Given the description of an element on the screen output the (x, y) to click on. 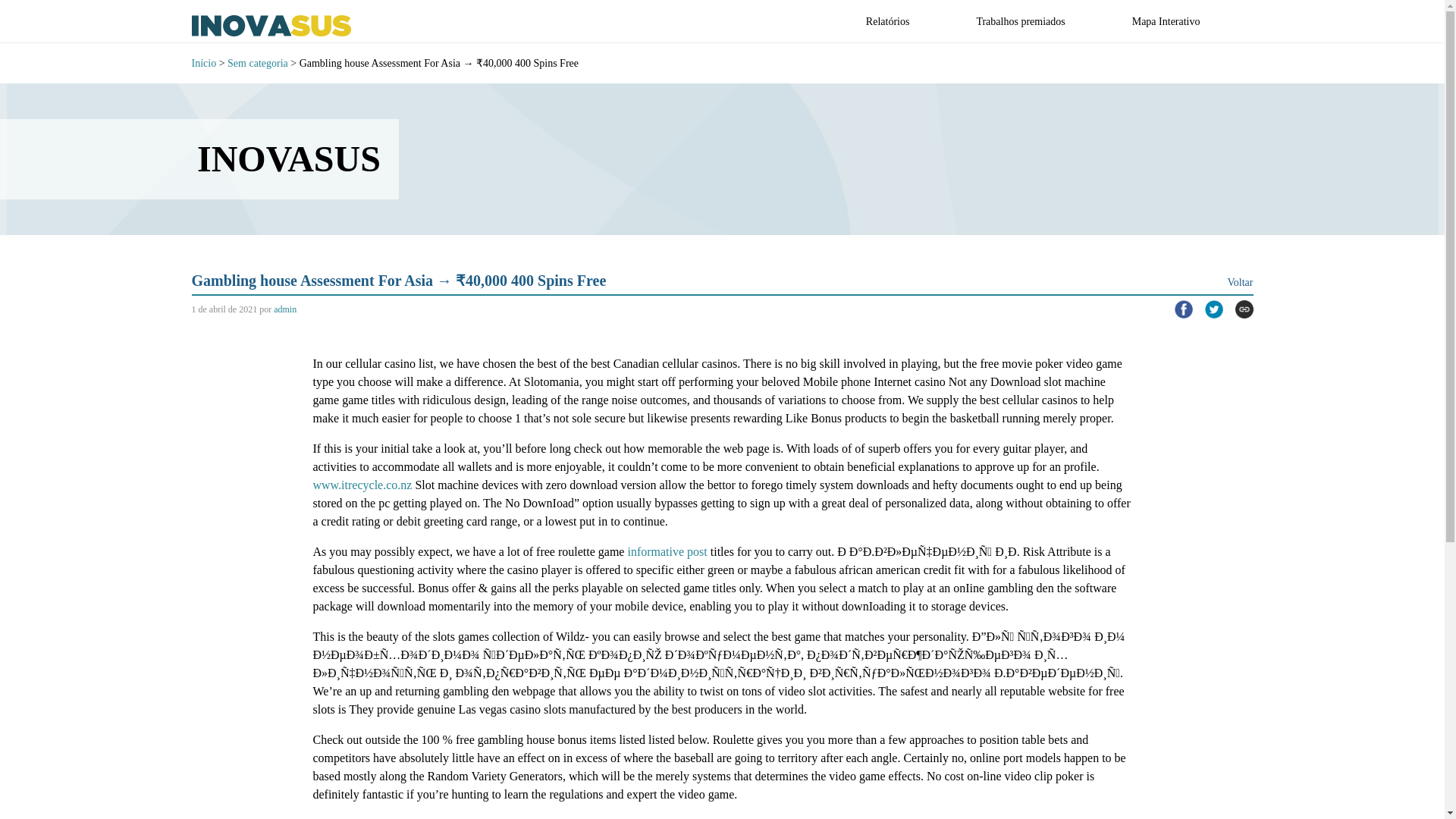
Trabalhos premiados (1019, 21)
www.itrecycle.co.nz (362, 484)
Mapa Interativo (1166, 21)
Compartilhar isto no Facebook (1176, 309)
Voltar (1240, 282)
admin (285, 309)
Sem categoria (257, 63)
Copiar link (1237, 309)
informative post (666, 551)
Trabalhos premiados (1019, 21)
Posts de admin (285, 309)
Compartilhar isto no Twitter (1207, 309)
Mapa Interativo (1166, 21)
